Given the description of an element on the screen output the (x, y) to click on. 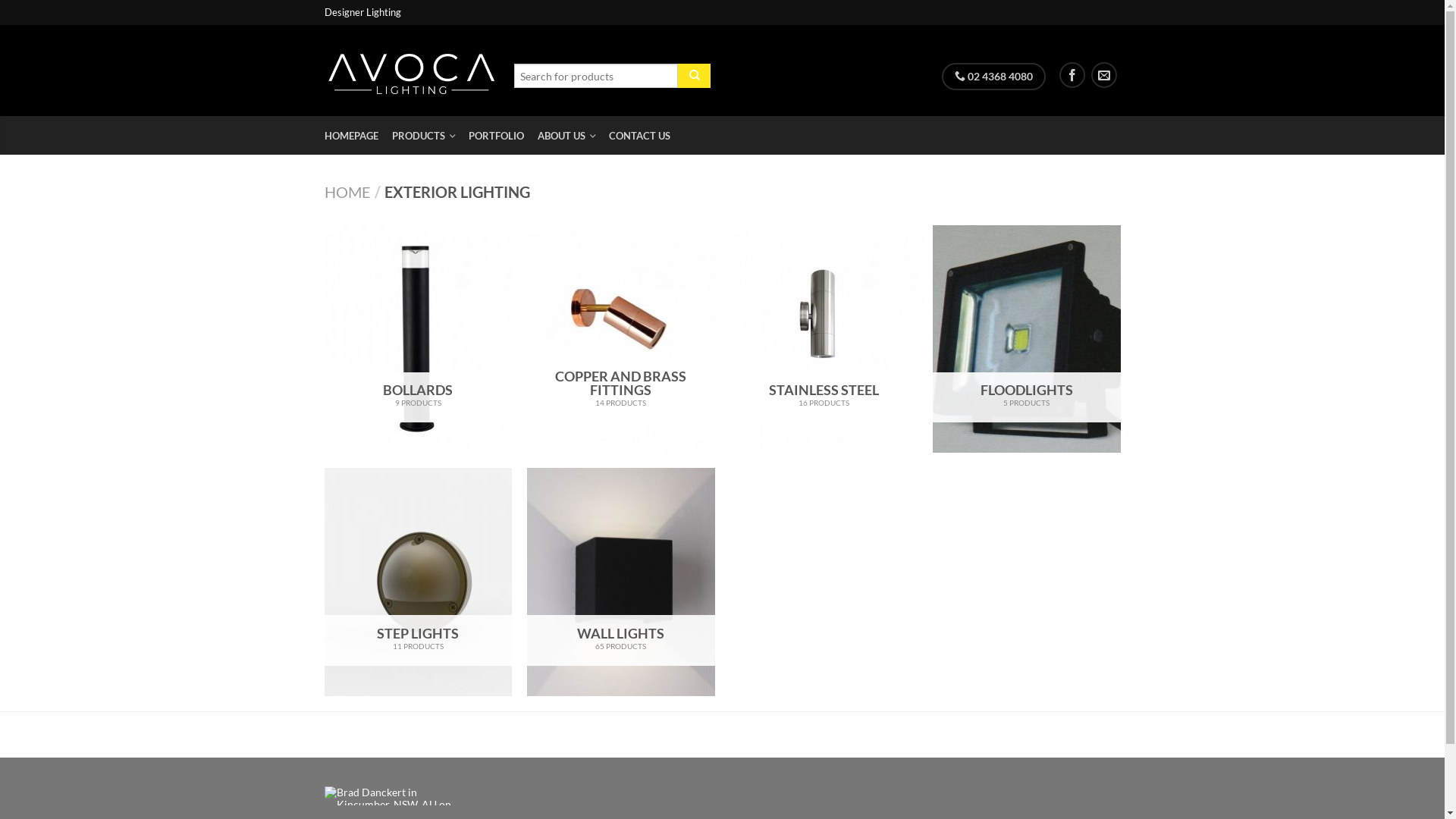
PORTFOLIO Element type: text (501, 135)
HOMEPAGE Element type: text (356, 135)
02 4368 4080 Element type: text (993, 76)
WALL LIGHTS
65 PRODUCTS Element type: text (621, 581)
STAINLESS STEEL
16 PRODUCTS Element type: text (823, 339)
CONTACT US Element type: text (644, 135)
BOLLARDS
9 PRODUCTS Element type: text (418, 339)
FLOODLIGHTS
5 PRODUCTS Element type: text (1026, 339)
HOME Element type: text (347, 191)
Avoca Lighting - Designer Wholesale Lighting Element type: hover (411, 69)
ABOUT US Element type: text (570, 135)
PRODUCTS Element type: text (428, 135)
COPPER AND BRASS FITTINGS
14 PRODUCTS Element type: text (621, 339)
STEP LIGHTS
11 PRODUCTS Element type: text (418, 581)
